Given the description of an element on the screen output the (x, y) to click on. 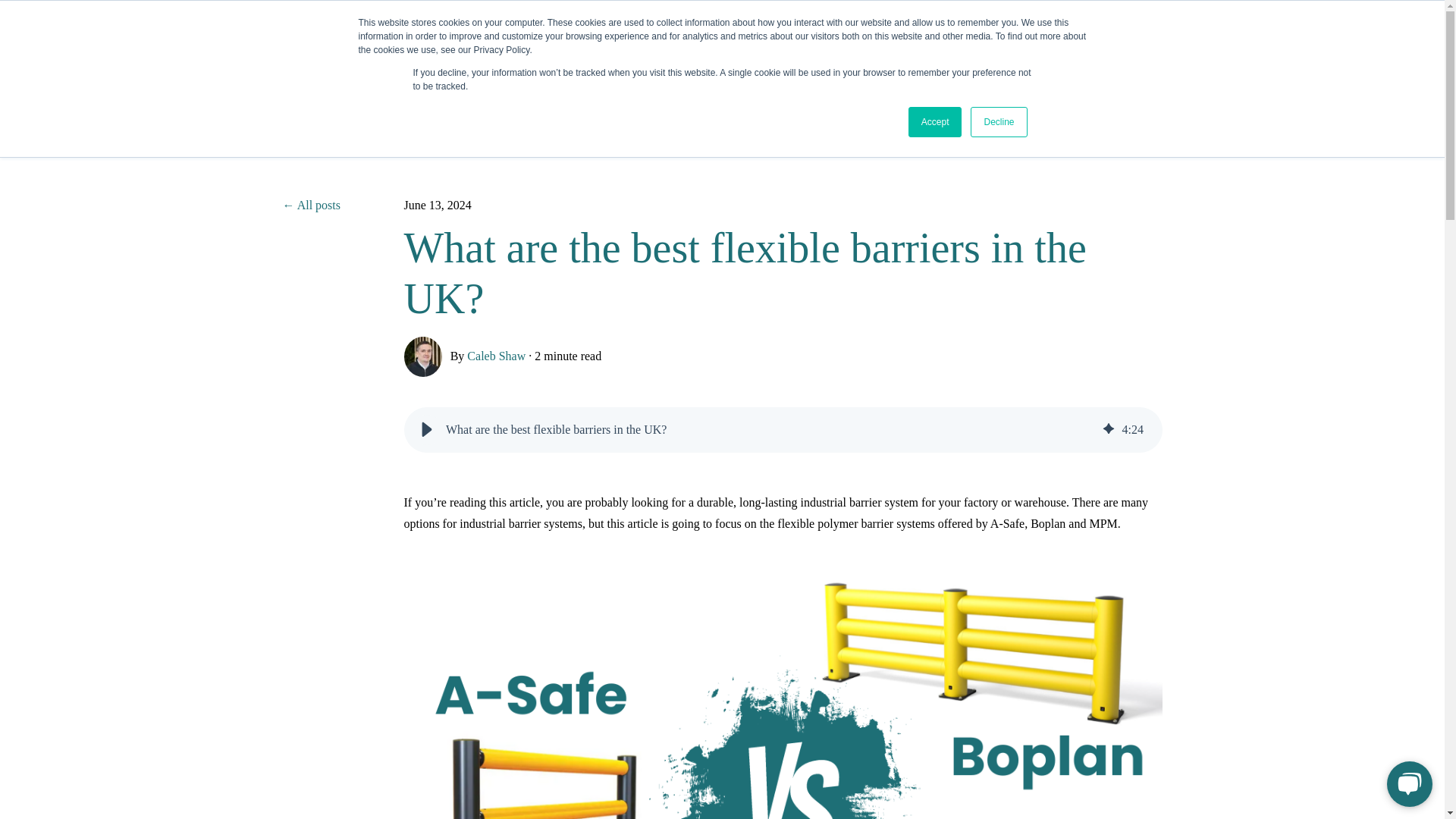
About us (850, 50)
Products (600, 50)
Get help from an expert (1099, 50)
Accept (935, 122)
Case Studies (943, 50)
Learning Hub (694, 50)
Show submenu for About us (878, 50)
All posts (342, 205)
Show submenu for Products (628, 50)
Show submenu for Pricing (795, 50)
Decline (998, 122)
Pricing (770, 50)
